Given the description of an element on the screen output the (x, y) to click on. 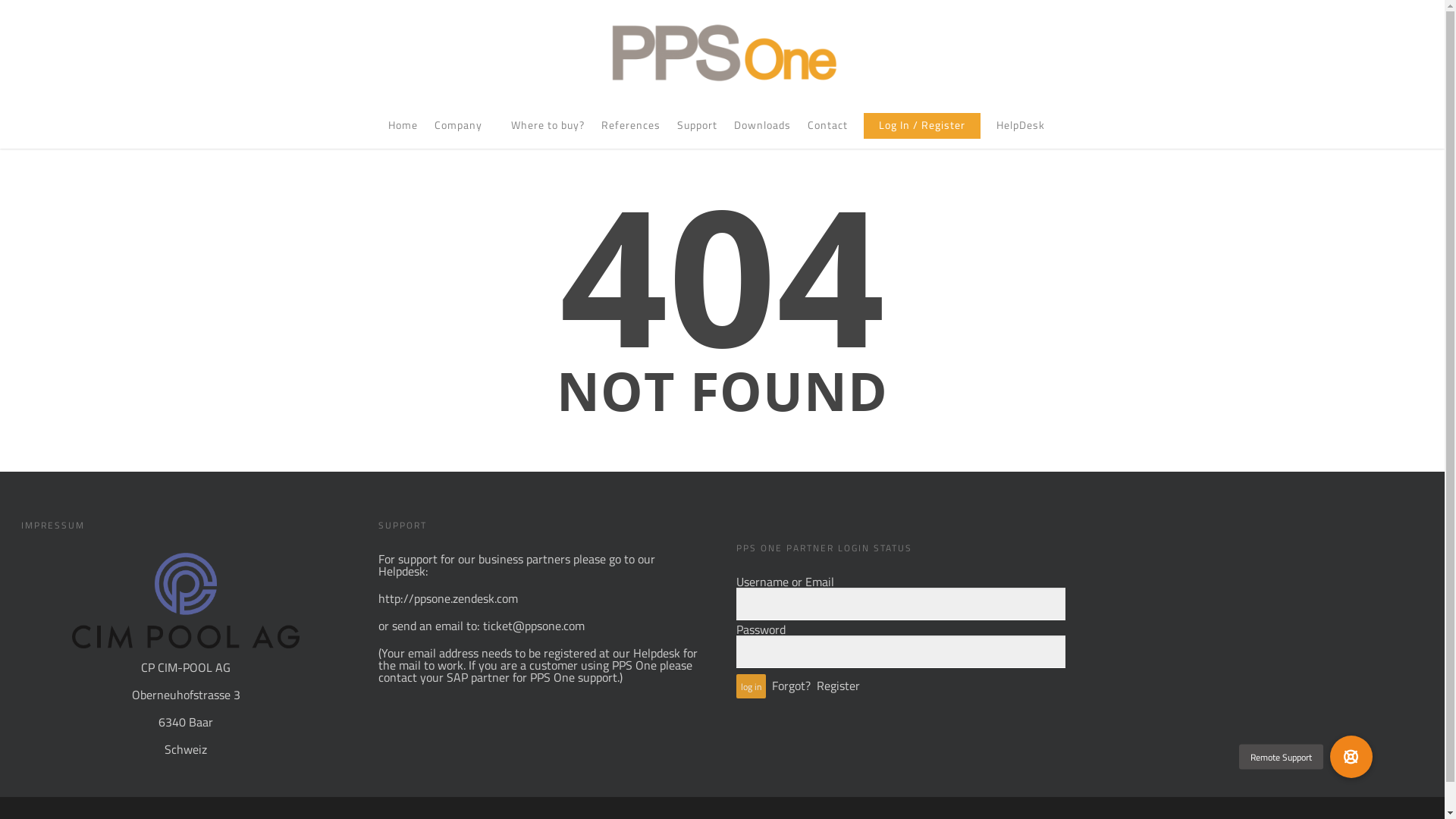
log in Element type: text (750, 686)
Log In / Register Element type: text (921, 133)
Downloads Element type: text (762, 133)
Contact Element type: text (827, 133)
ticket@ppsone.com Element type: text (533, 625)
http://ppsone.zendesk.com Element type: text (447, 597)
Forgot? Element type: text (790, 685)
References Element type: text (630, 133)
Home Element type: text (402, 133)
Remote Support Element type: text (1351, 756)
Register Element type: text (837, 685)
HelpDesk Element type: text (1020, 133)
Where to buy? Element type: text (547, 133)
Support Element type: text (696, 133)
Company Element type: text (464, 133)
